Given the description of an element on the screen output the (x, y) to click on. 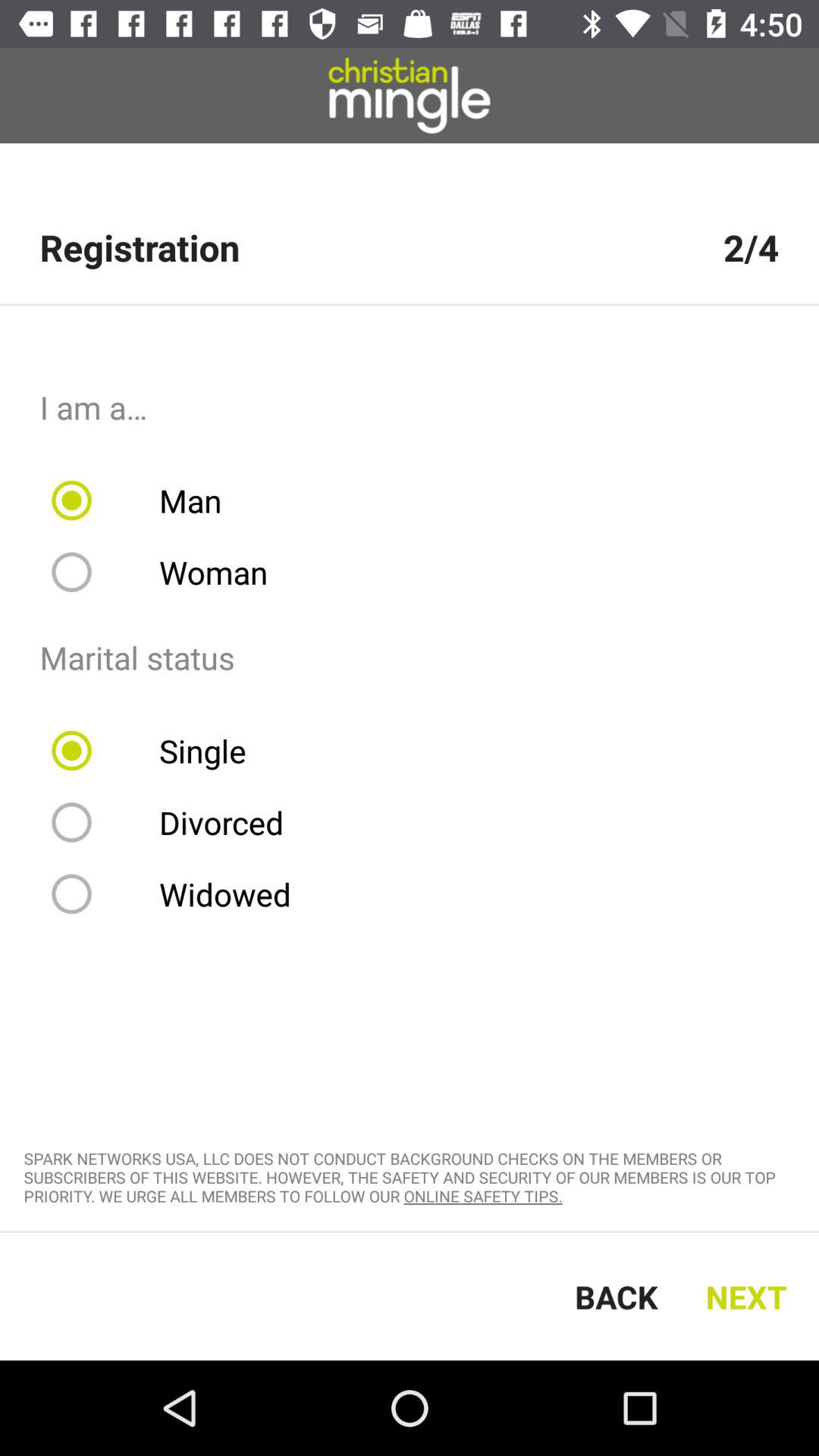
turn off the back icon (616, 1296)
